Given the description of an element on the screen output the (x, y) to click on. 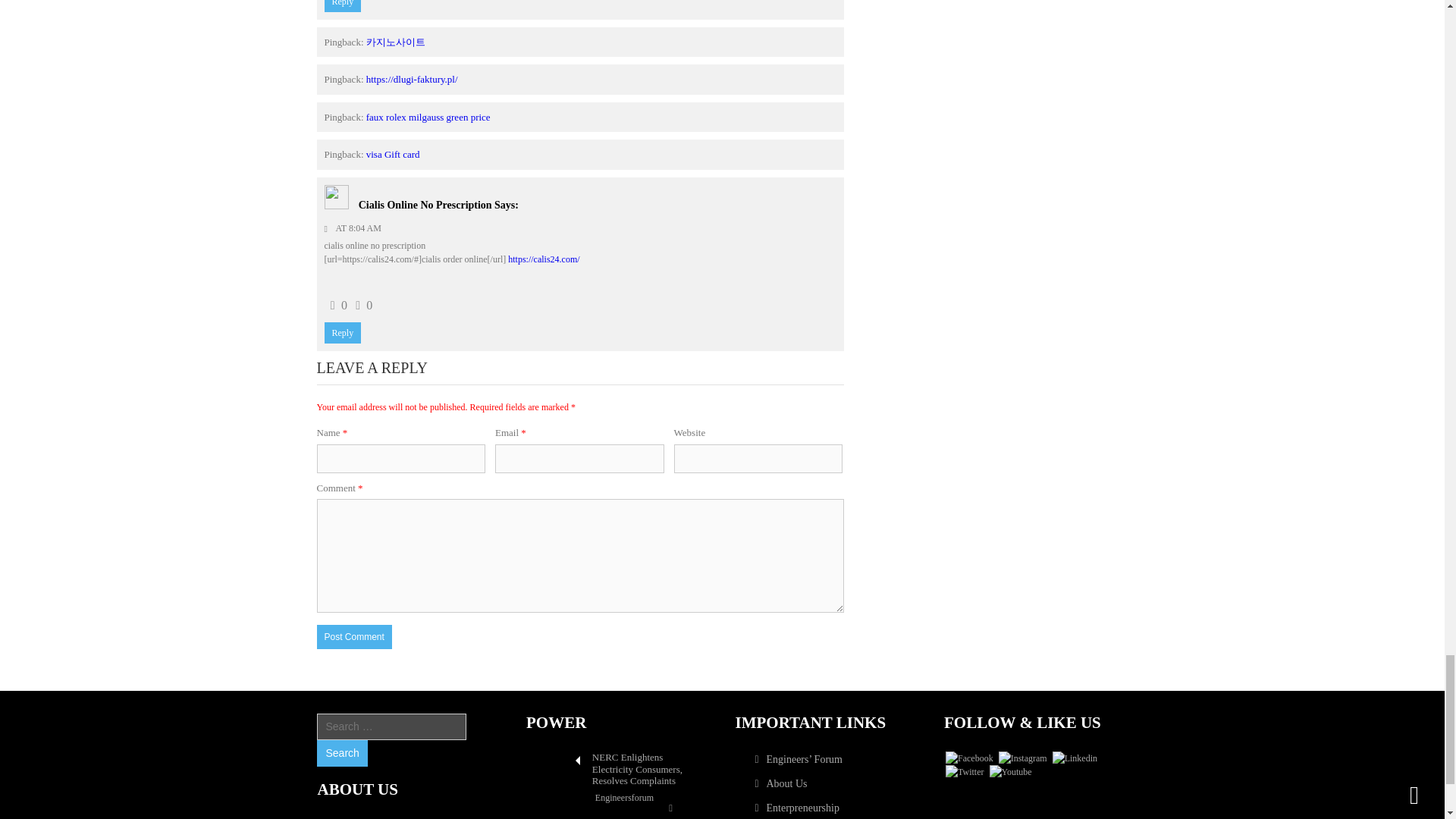
NERC Enlightens Electricity Consumers, Resolves Complaints (552, 757)
Search (341, 753)
Post Comment (354, 636)
Search (341, 753)
